Given the description of an element on the screen output the (x, y) to click on. 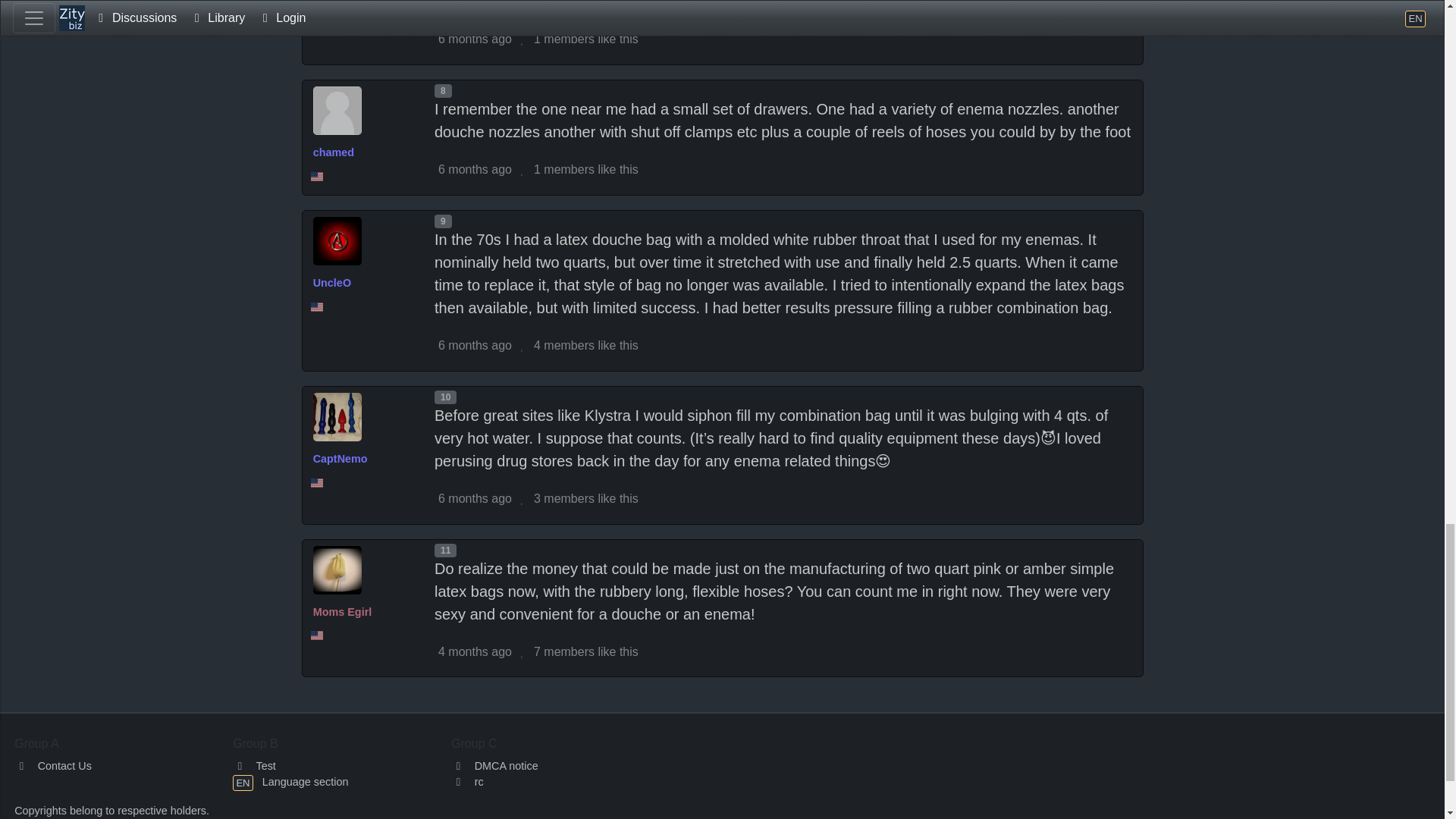
  Contact Us (52, 766)
  rc (467, 781)
  DMCA notice (494, 766)
  Test (254, 766)
EN   Language section (289, 781)
